Given the description of an element on the screen output the (x, y) to click on. 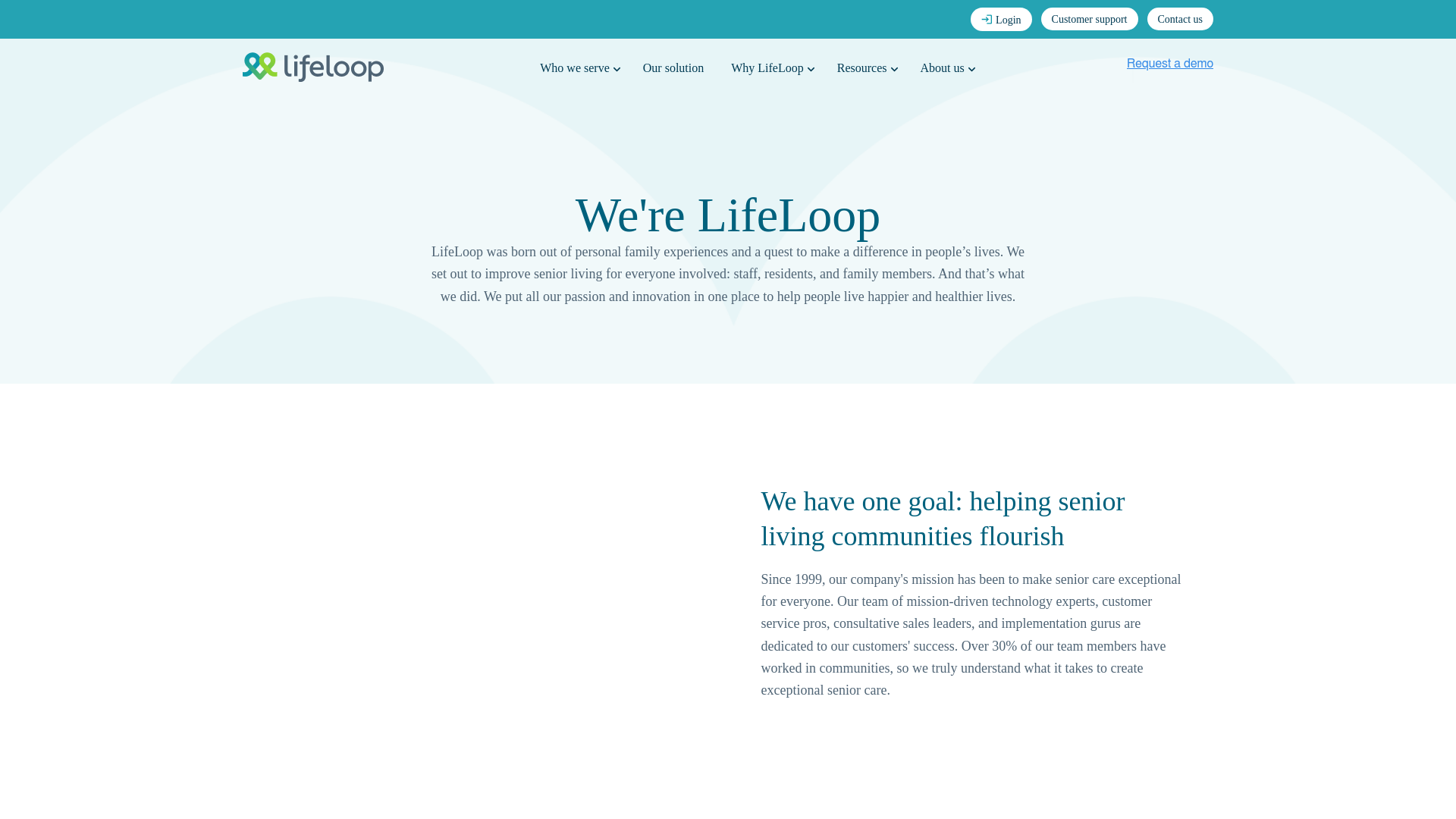
Why LifeLoop (770, 73)
Resources (865, 73)
Who we serve (576, 73)
Our solution (672, 73)
LifeLoop Vision (484, 598)
Login (1000, 19)
Customer support (1089, 18)
About us (945, 73)
Contact us (1179, 18)
